Given the description of an element on the screen output the (x, y) to click on. 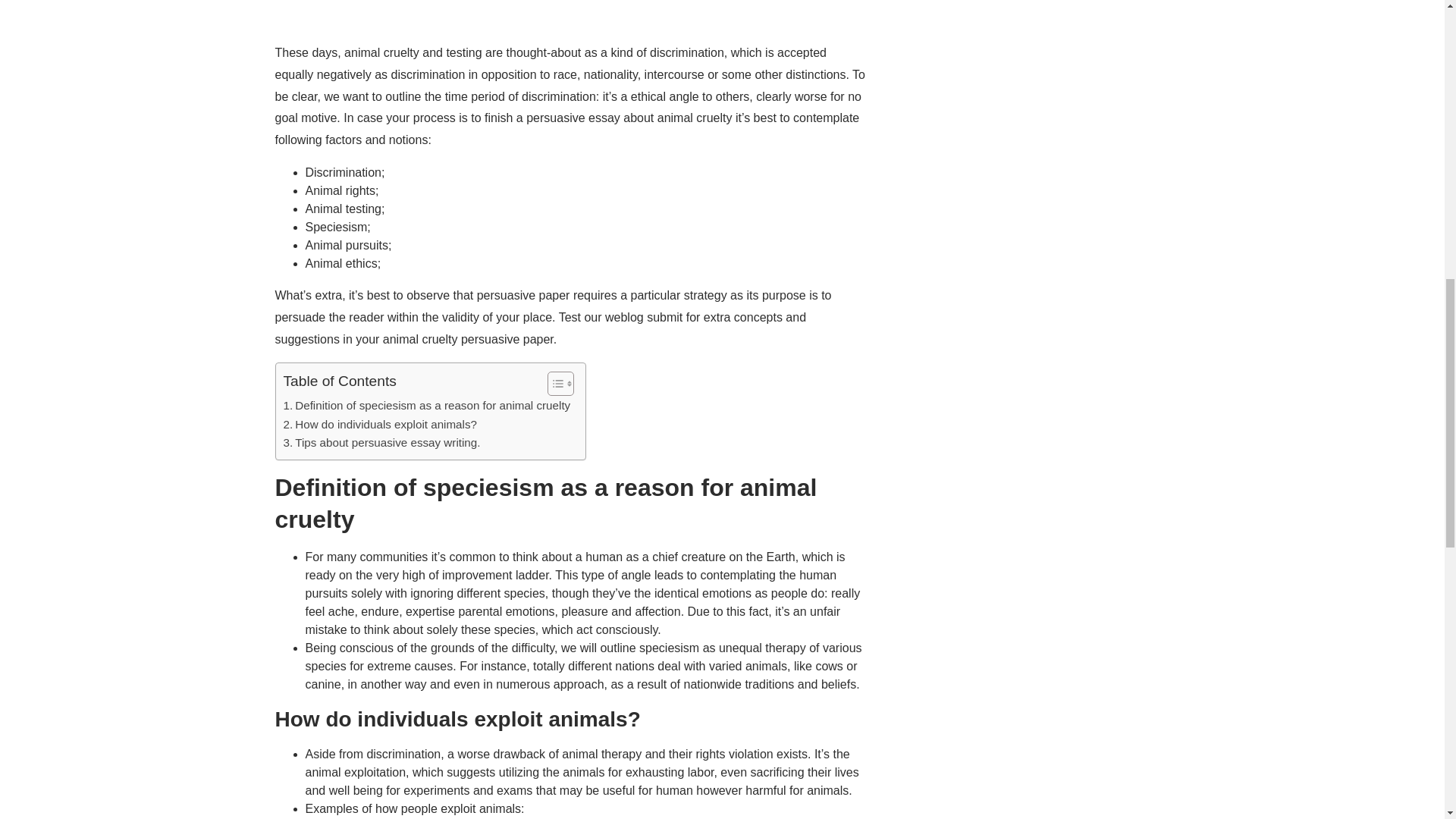
How do individuals exploit animals? (380, 424)
Tips about persuasive essay writing. (381, 443)
Definition of speciesism as a reason for animal cruelty (426, 405)
Definition of speciesism as a reason for animal cruelty  (426, 405)
How do individuals exploit animals?  (380, 424)
Tips about persuasive essay writing.  (381, 443)
